Given the description of an element on the screen output the (x, y) to click on. 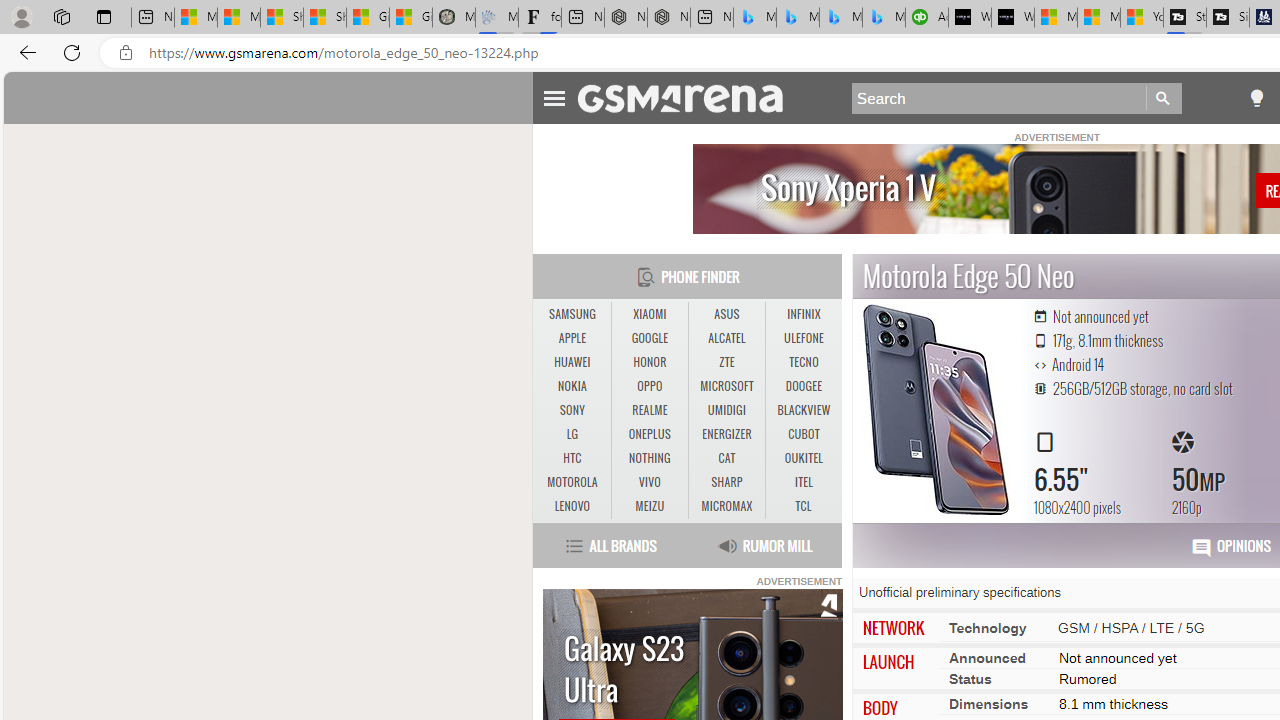
Status (970, 678)
CAT (726, 458)
ASUS (726, 314)
TCL (802, 506)
ULEFONE (803, 339)
Toggle Navigation (553, 95)
ALCATEL (726, 338)
VIVO (649, 483)
Shanghai, China weather forecast | Microsoft Weather (324, 17)
XIAOMI (649, 313)
LENOVO (571, 506)
SONY (571, 411)
DOOGEE (803, 385)
DOOGEE (803, 386)
